Given the description of an element on the screen output the (x, y) to click on. 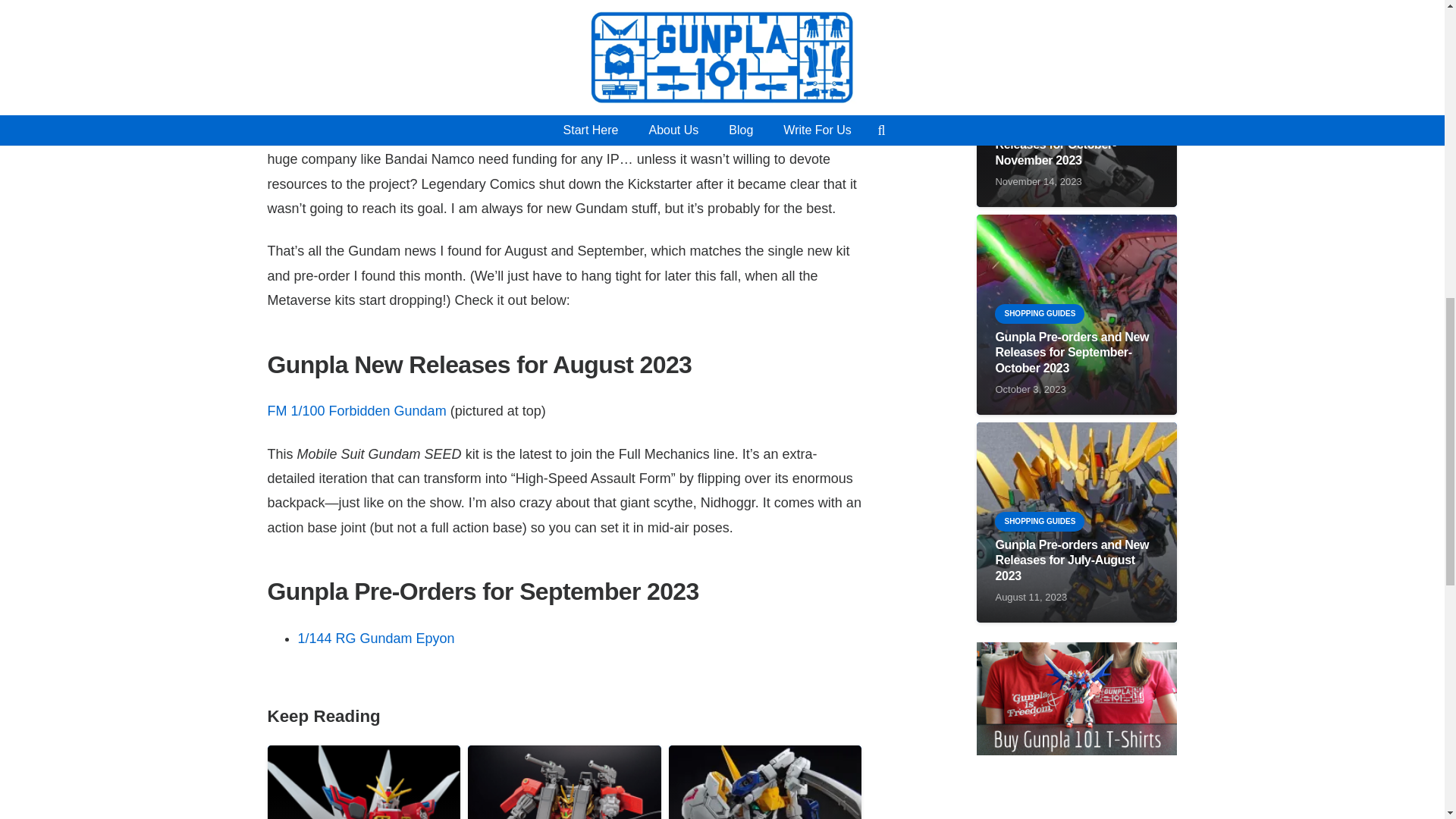
Gunpla Pre-orders and New Releases for October-November 2023 (1071, 144)
Gunpla Pre-orders and New Releases for July-August 2023 (1071, 560)
a Kickstarter to fund Gundam Breaker Battlogue: New Build (553, 122)
SHOPPING GUIDES (1039, 106)
SHOPPING GUIDES (1039, 521)
Back to top (1413, 26)
SHOPPING GUIDES (1039, 313)
